Given the description of an element on the screen output the (x, y) to click on. 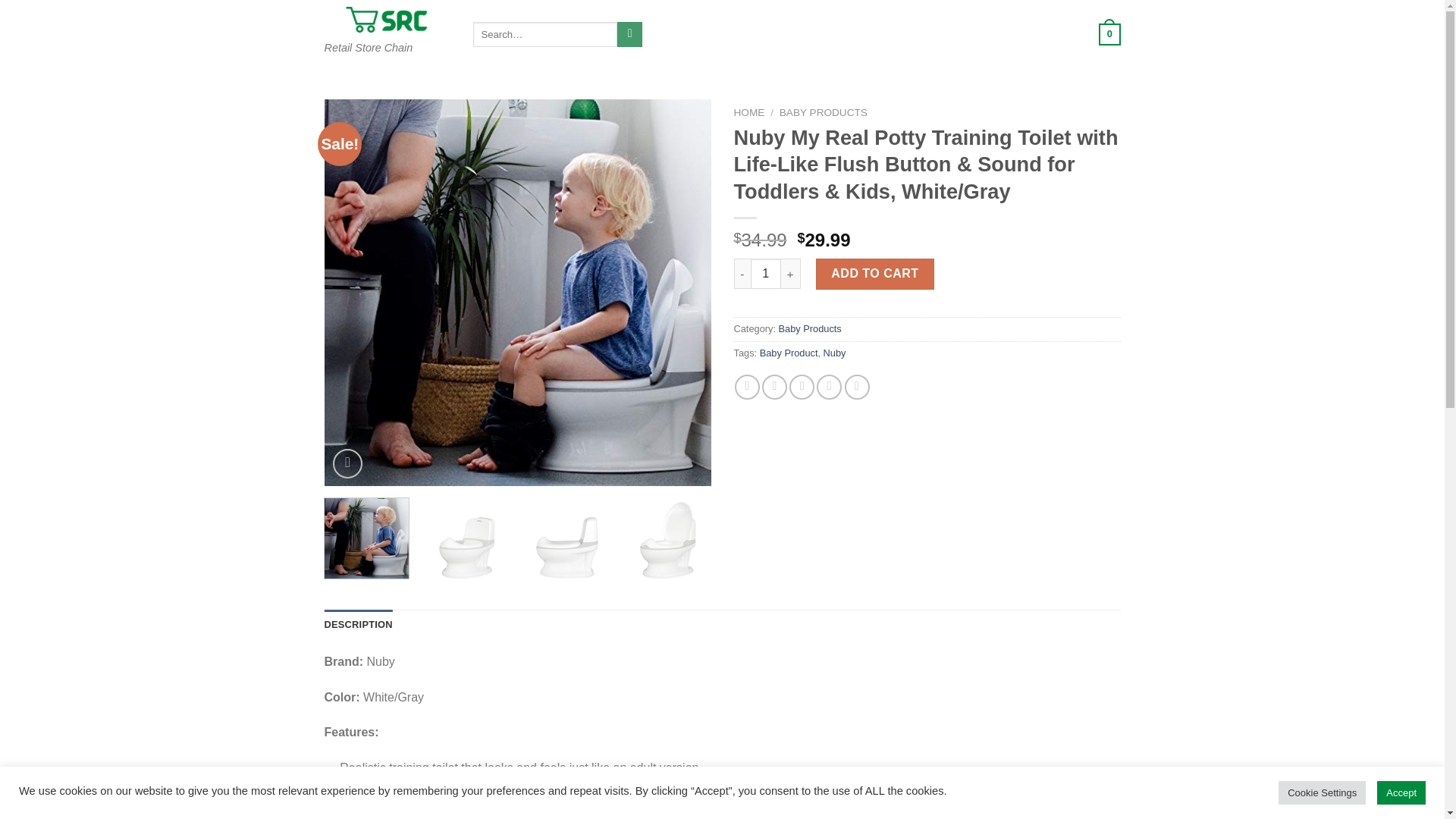
SUPPLIERS (818, 34)
Cart (1092, 34)
1 (765, 273)
HOME (686, 34)
PRODUCTS (745, 34)
Search (629, 34)
Solid Rock Care - Retail Store Chain (386, 19)
CONTACT US (897, 34)
